Given the description of an element on the screen output the (x, y) to click on. 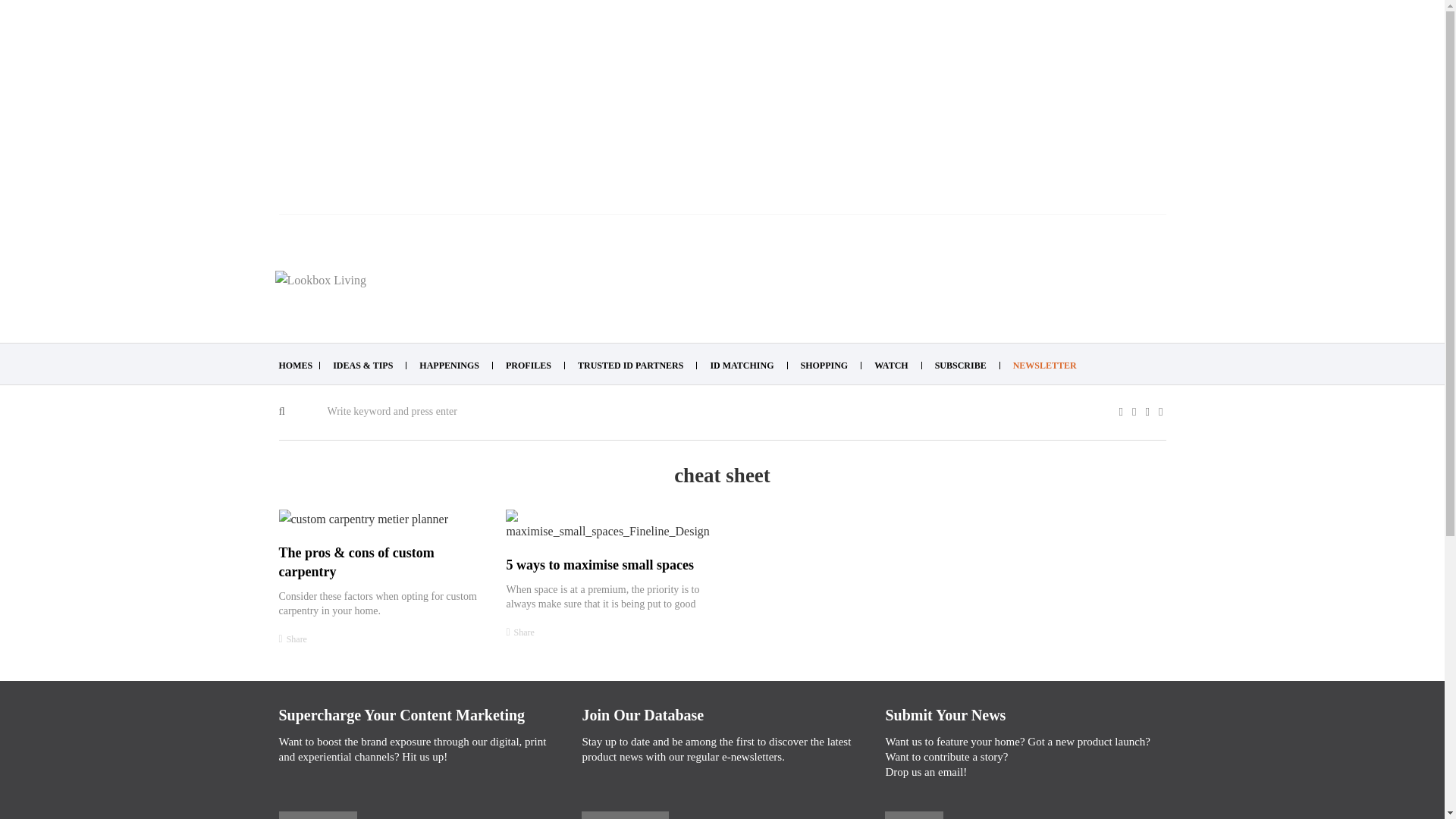
ID MATCHING (741, 365)
SHOPPING (824, 365)
Lookbox Living (320, 280)
TALK TO US (317, 817)
PROFILES (528, 365)
TRUSTED ID PARTNERS (630, 365)
HAPPENINGS (449, 365)
SUBSCRIBE (960, 365)
WATCH (891, 365)
